Given the description of an element on the screen output the (x, y) to click on. 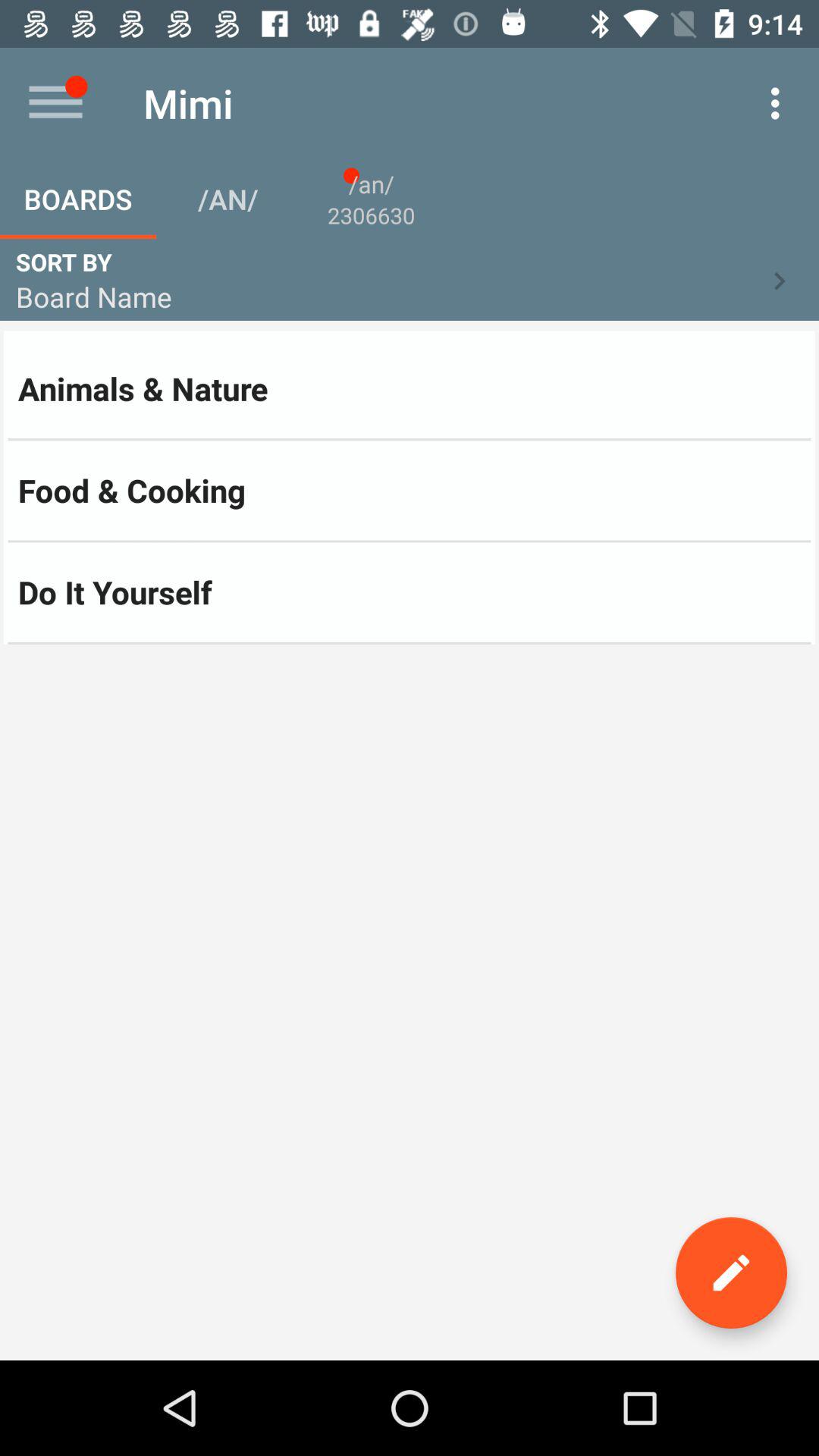
main menu option (55, 103)
